Given the description of an element on the screen output the (x, y) to click on. 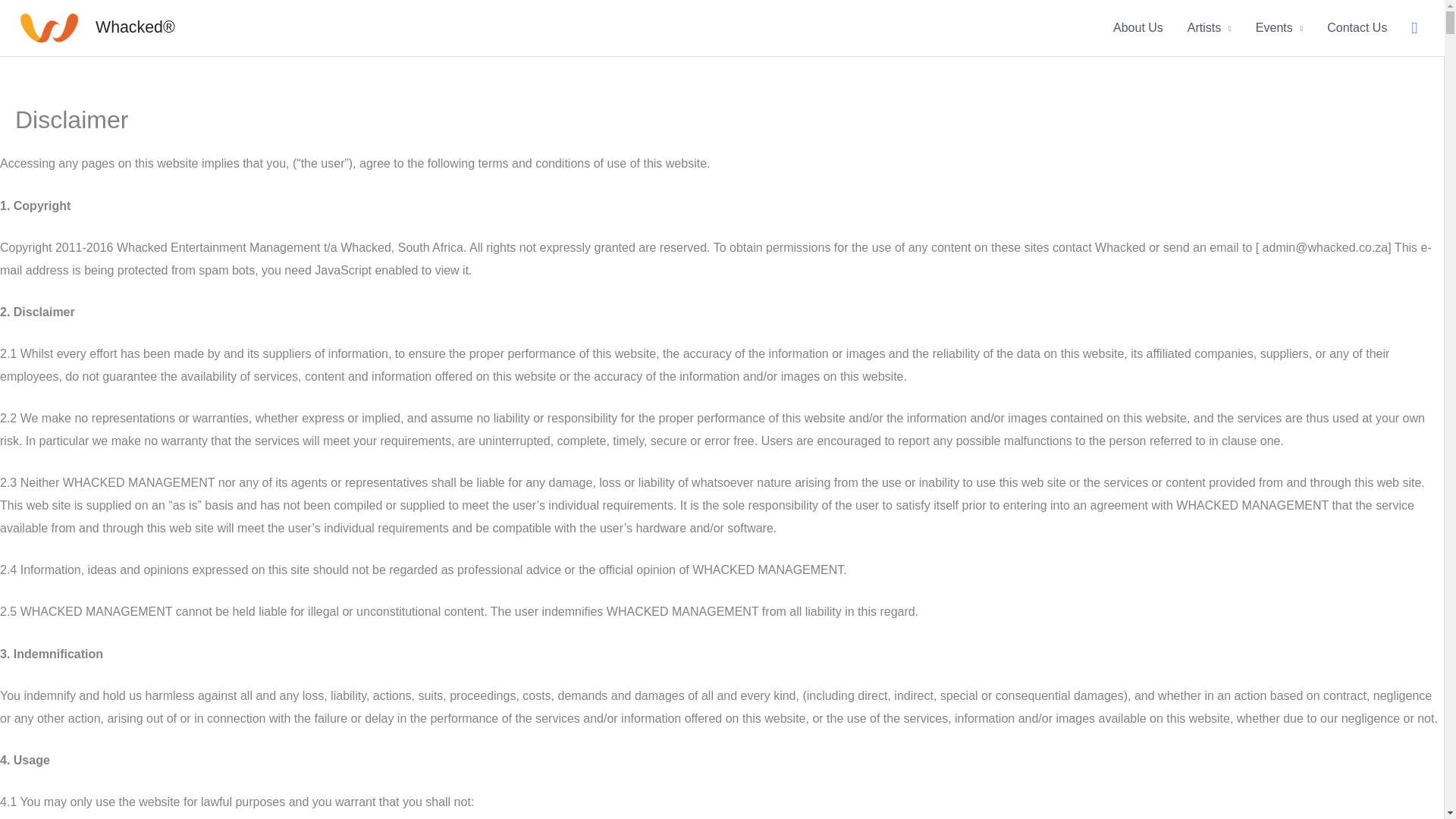
Events (1278, 28)
Contact Us (1356, 28)
About Us (1137, 28)
Artists (1208, 28)
